Given the description of an element on the screen output the (x, y) to click on. 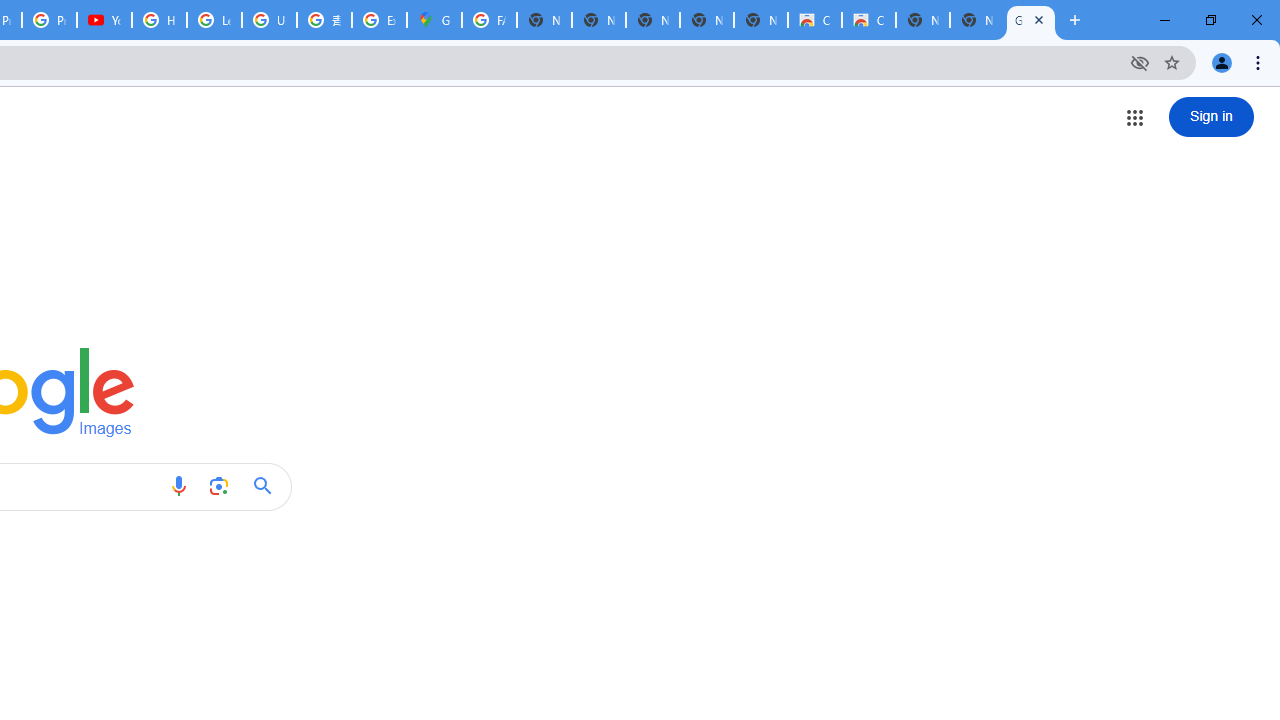
How Chrome protects your passwords - Google Chrome Help (158, 20)
